Given the description of an element on the screen output the (x, y) to click on. 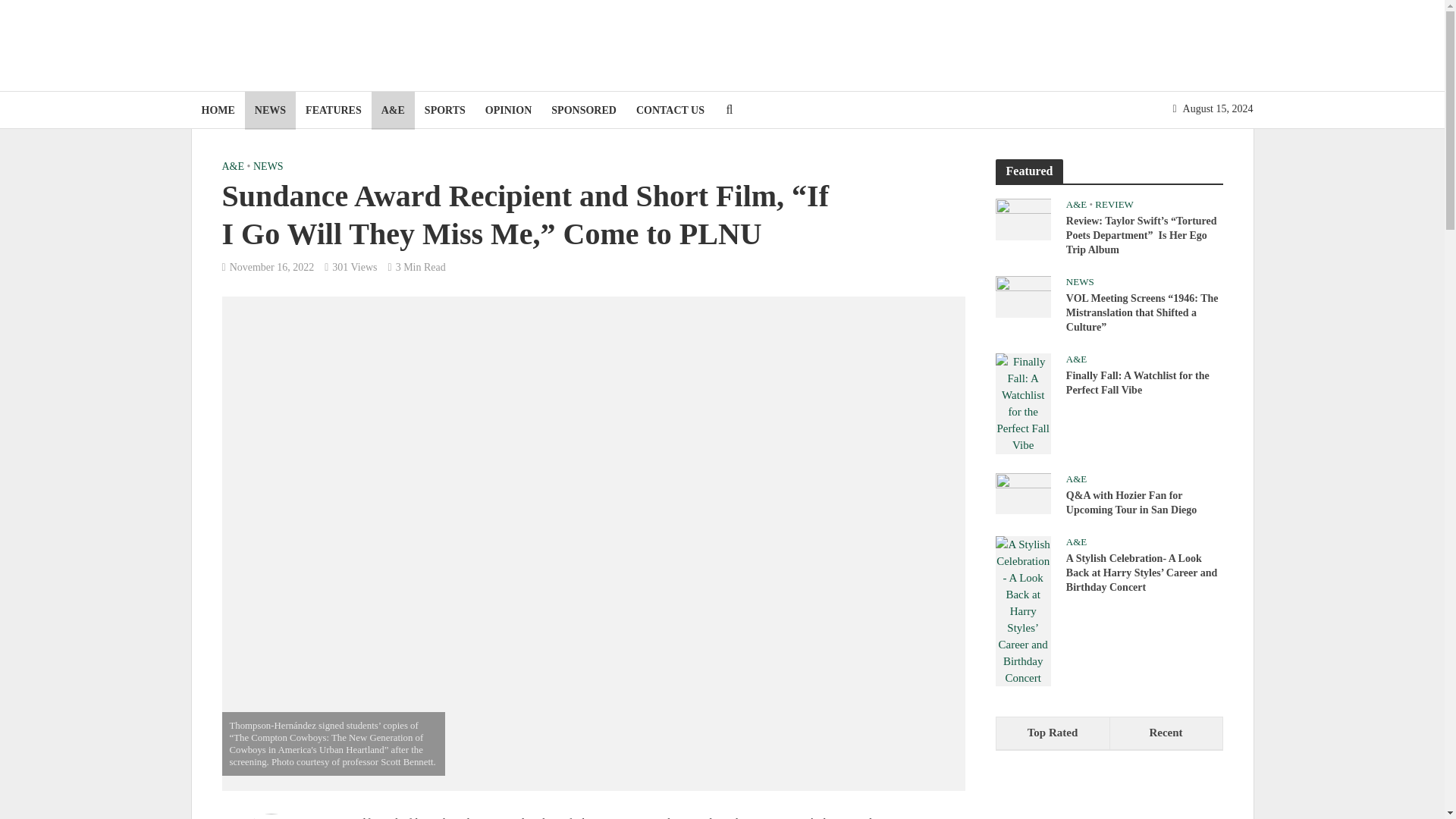
SPONSORED (583, 110)
NEWS (269, 110)
NEWS (268, 167)
FEATURES (333, 110)
HOME (217, 110)
OPINION (508, 110)
SPORTS (445, 110)
CONTACT US (670, 110)
Finally Fall: A Watchlist for the Perfect Fall Vibe (1021, 402)
